Given the description of an element on the screen output the (x, y) to click on. 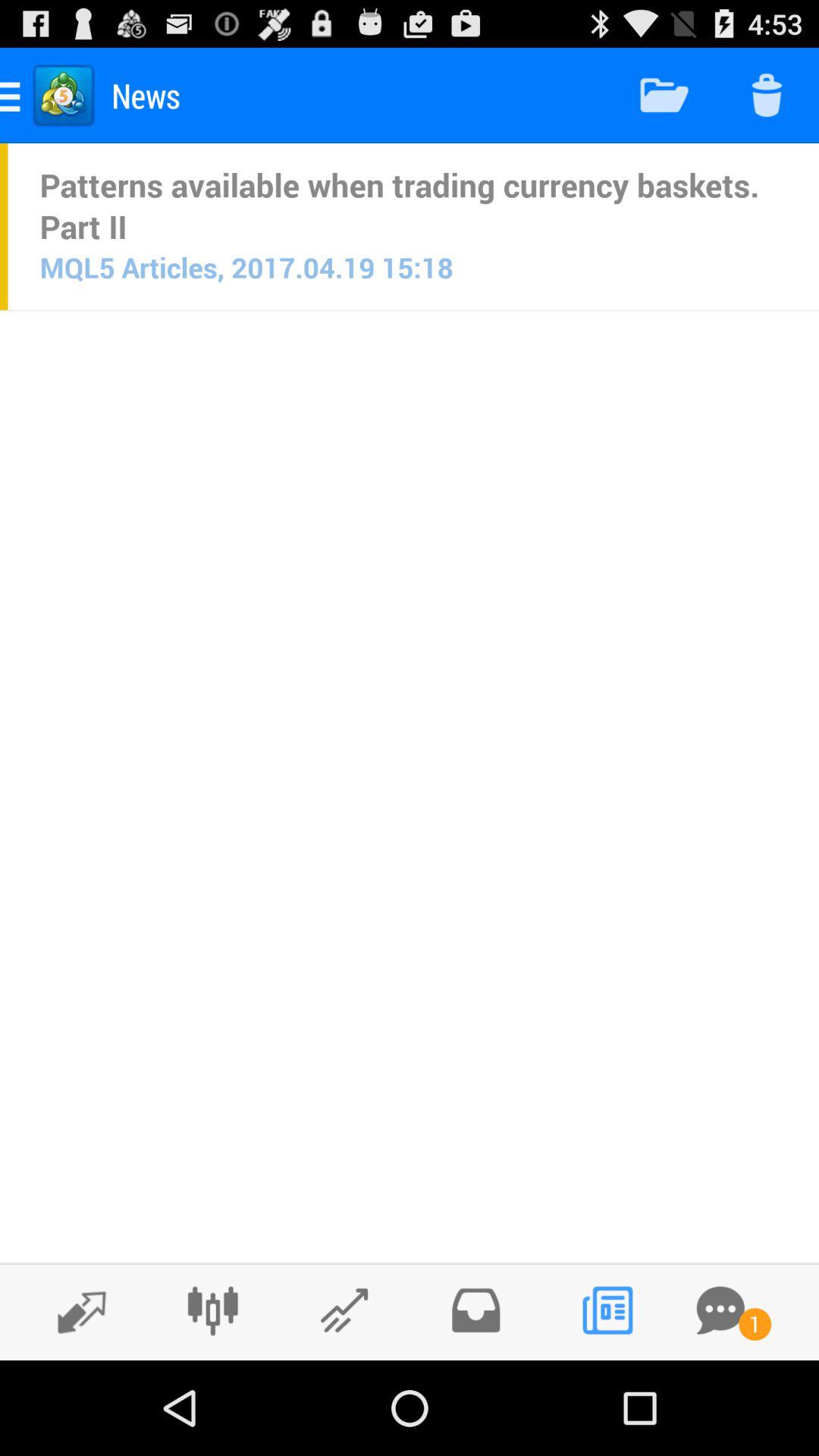
turn off the item below patterns available when (246, 267)
